Given the description of an element on the screen output the (x, y) to click on. 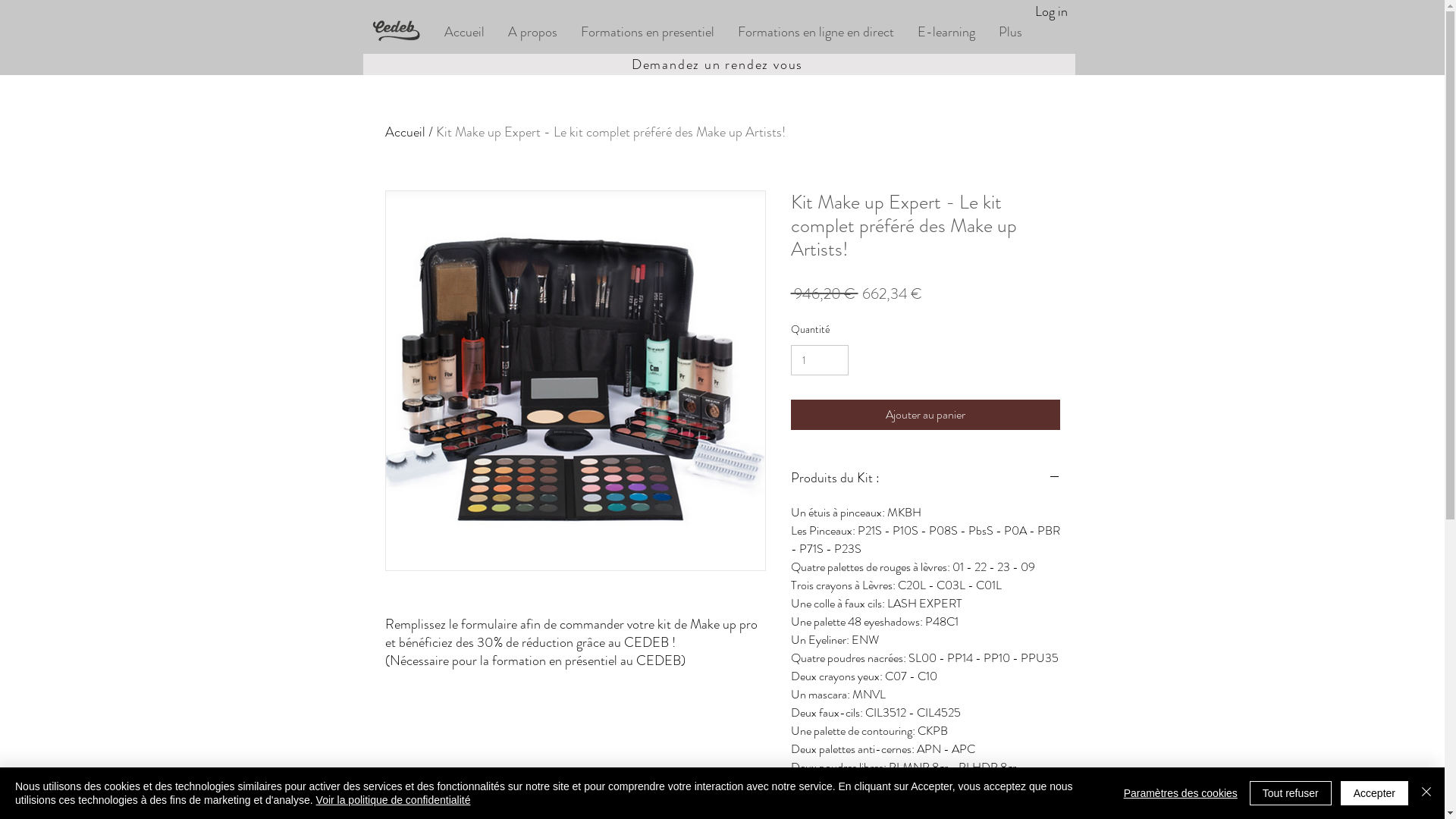
Ajouter au panier Element type: text (924, 414)
Accueil Element type: text (405, 131)
Formations en ligne en direct Element type: text (814, 32)
Produits du Kit : Element type: text (924, 478)
Formations en presentiel Element type: text (646, 32)
Accueil Element type: text (463, 32)
Tout refuser Element type: text (1290, 793)
Demandez un rendez vous Element type: text (718, 64)
Design sans titre (1).png Element type: hover (401, 31)
A propos Element type: text (531, 32)
E-learning Element type: text (945, 32)
Accepter Element type: text (1374, 793)
